Given the description of an element on the screen output the (x, y) to click on. 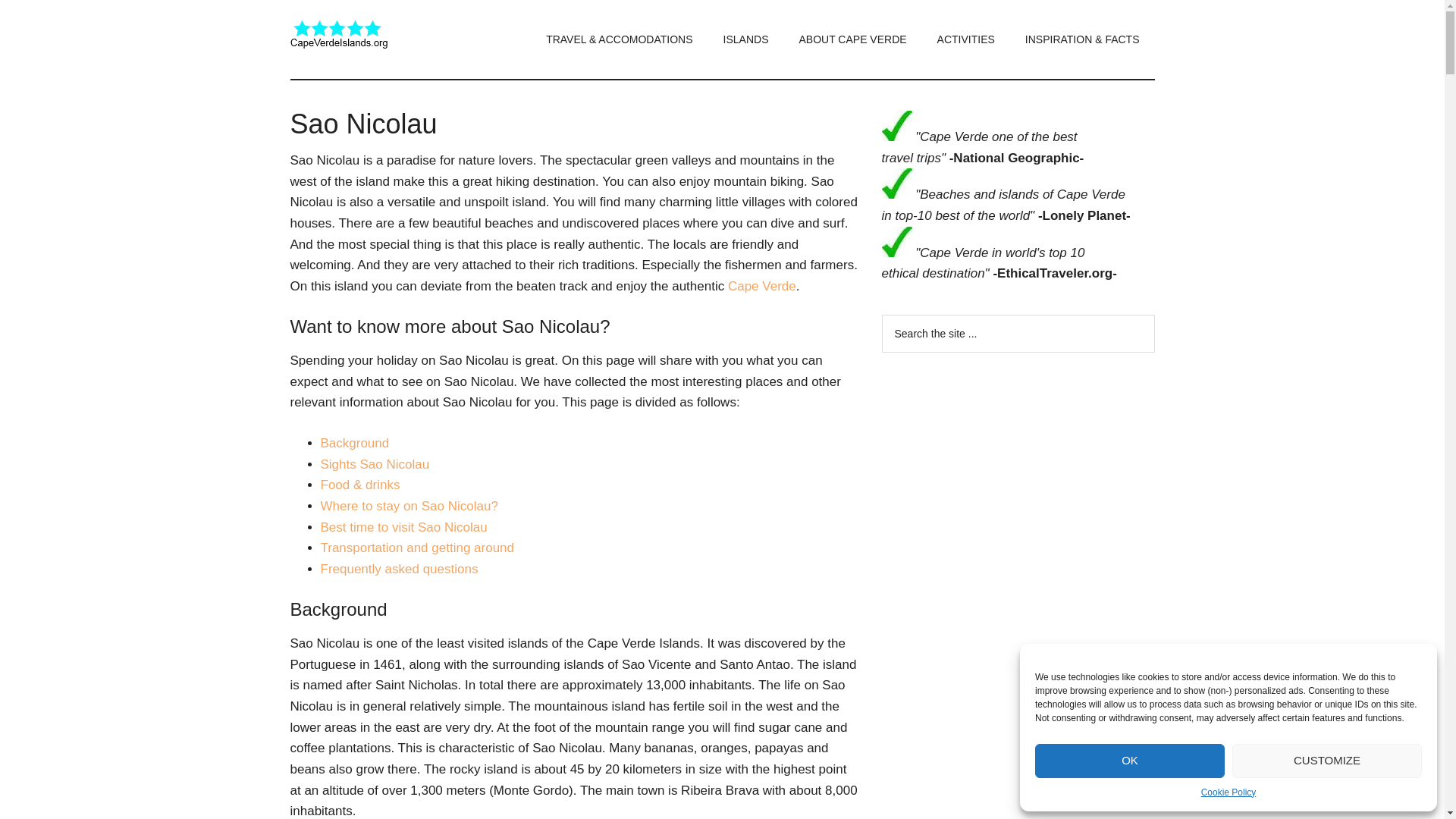
ABOUT CAPE VERDE (852, 39)
ISLANDS (745, 39)
OK (1129, 759)
Cookie Policy (1228, 792)
CapeVerdeIslands.org (338, 35)
CUSTOMIZE (1326, 759)
Islands (745, 39)
About Cape Verde (852, 39)
